Given the description of an element on the screen output the (x, y) to click on. 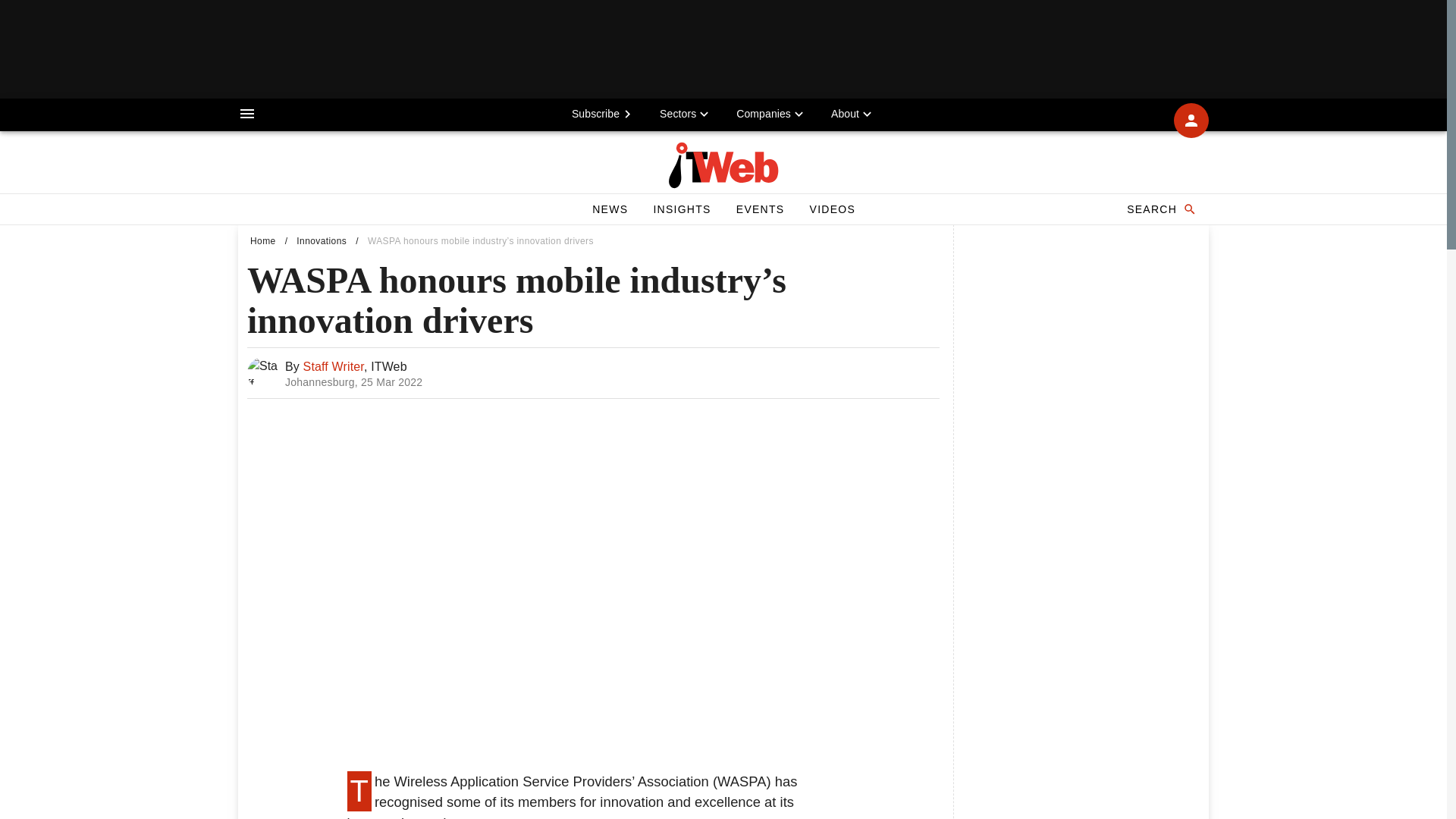
INSIGHTS (681, 208)
EVENTS (759, 208)
Innovations (321, 241)
Home (263, 241)
VIDEOS (831, 208)
NEWS (609, 208)
SEARCH (593, 372)
Subscribe (1160, 209)
